Given the description of an element on the screen output the (x, y) to click on. 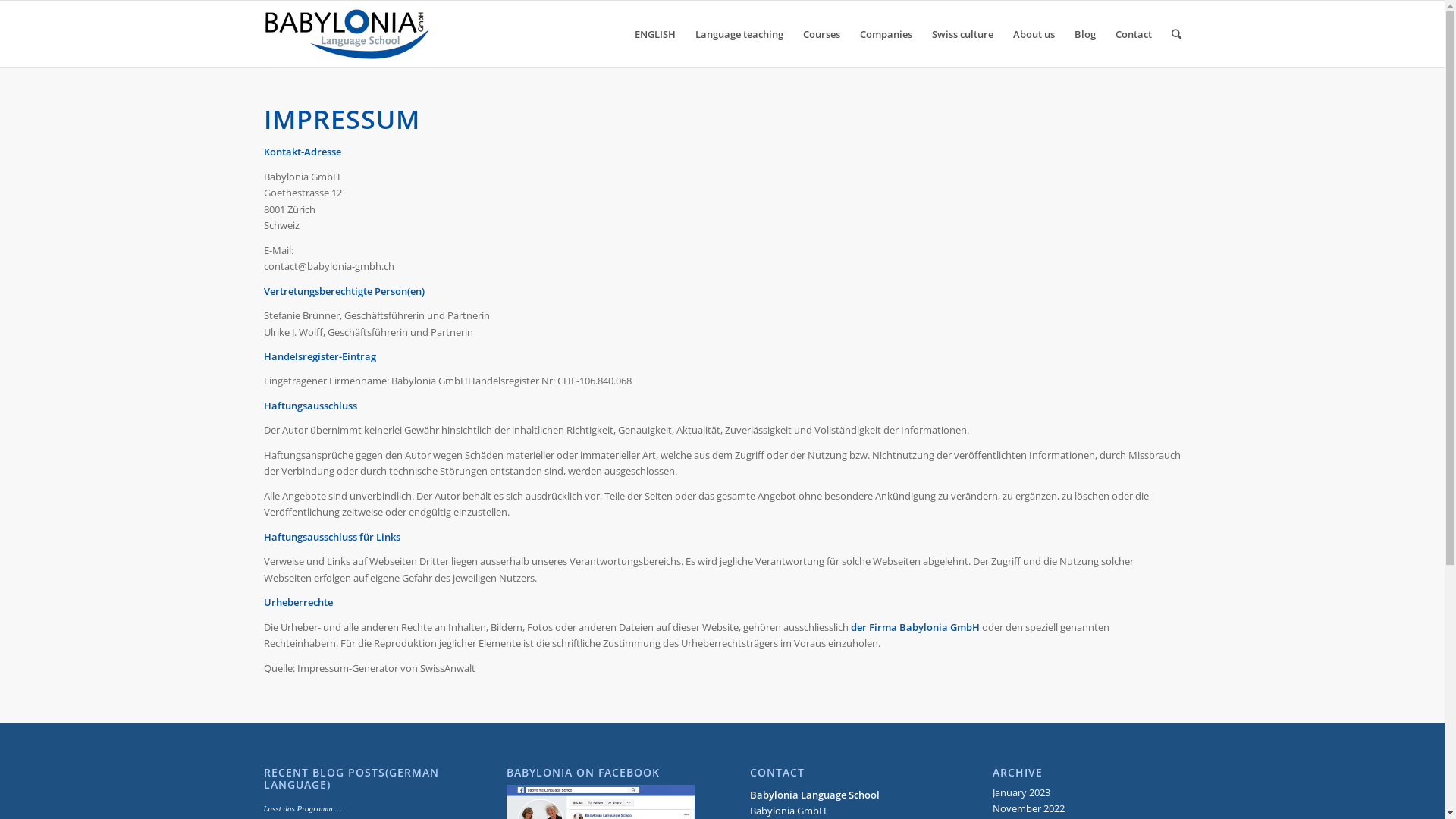
January 2023 Element type: text (1021, 792)
Courses Element type: text (821, 33)
November 2022 Element type: text (1028, 808)
Swiss culture Element type: text (962, 33)
ENGLISH Element type: text (654, 33)
About us Element type: text (1032, 33)
Blog Element type: text (1084, 33)
Companies Element type: text (885, 33)
Language teaching Element type: text (739, 33)
Contact Element type: text (1133, 33)
Impressum-Generator von SwissAnwalt Element type: text (386, 667)
